Given the description of an element on the screen output the (x, y) to click on. 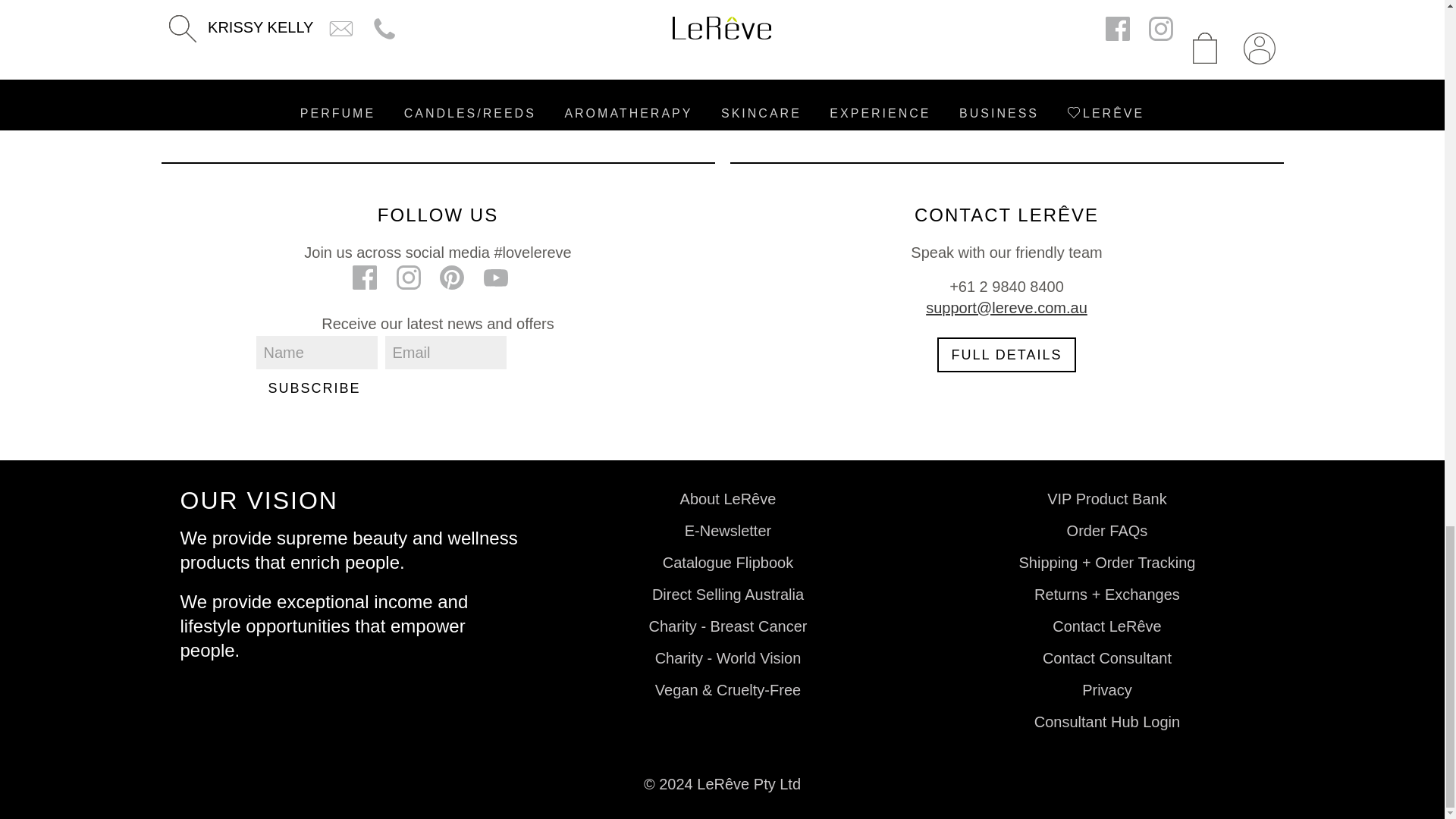
Subscribe (314, 388)
